Given the description of an element on the screen output the (x, y) to click on. 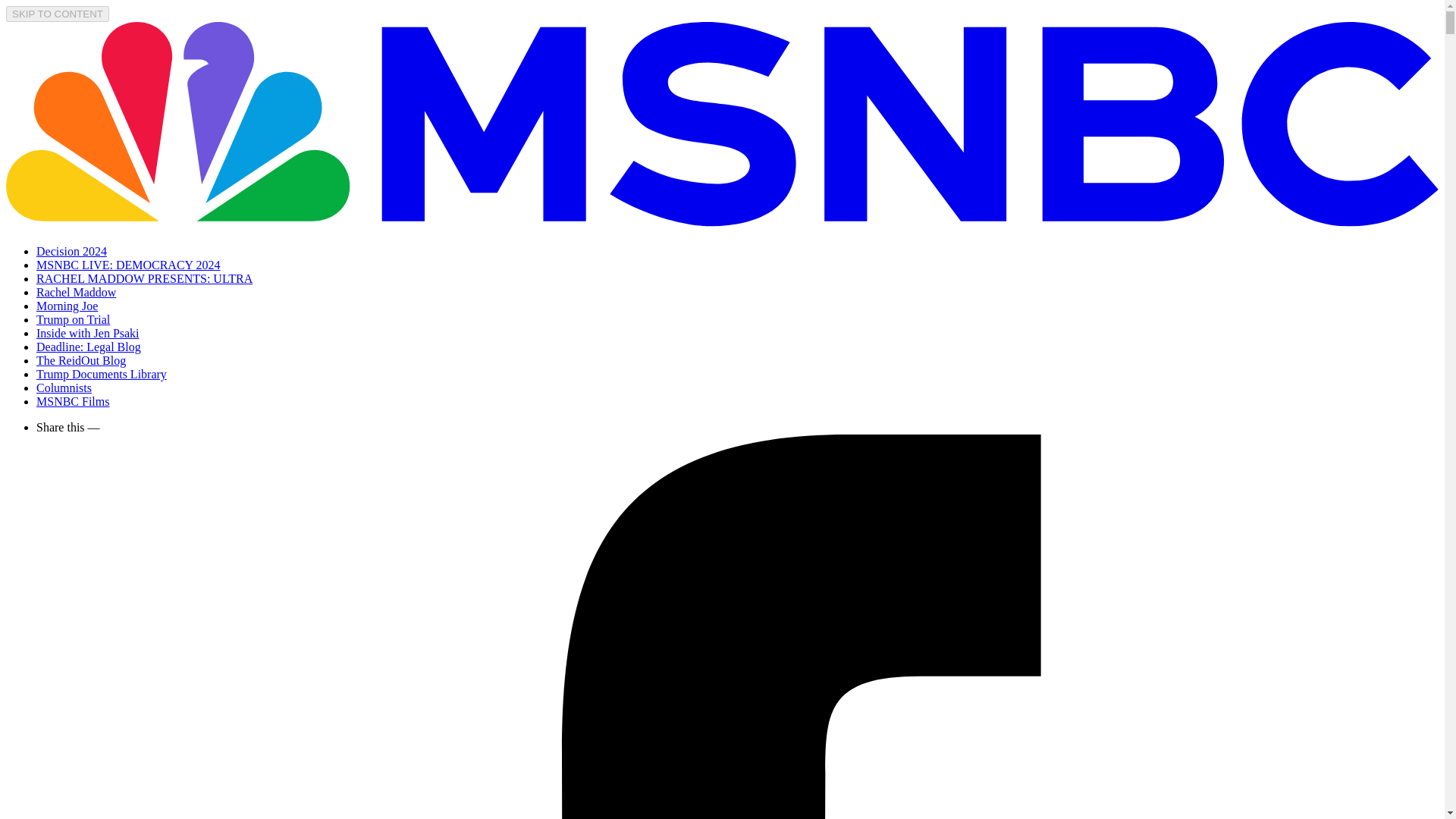
Trump on Trial (73, 318)
RACHEL MADDOW PRESENTS: ULTRA (143, 278)
MSNBC LIVE: DEMOCRACY 2024 (128, 264)
Inside with Jen Psaki (87, 332)
Deadline: Legal Blog (88, 346)
The ReidOut Blog (80, 359)
Rachel Maddow (76, 291)
SKIP TO CONTENT (57, 13)
Trump Documents Library (101, 373)
Decision 2024 (71, 250)
